Given the description of an element on the screen output the (x, y) to click on. 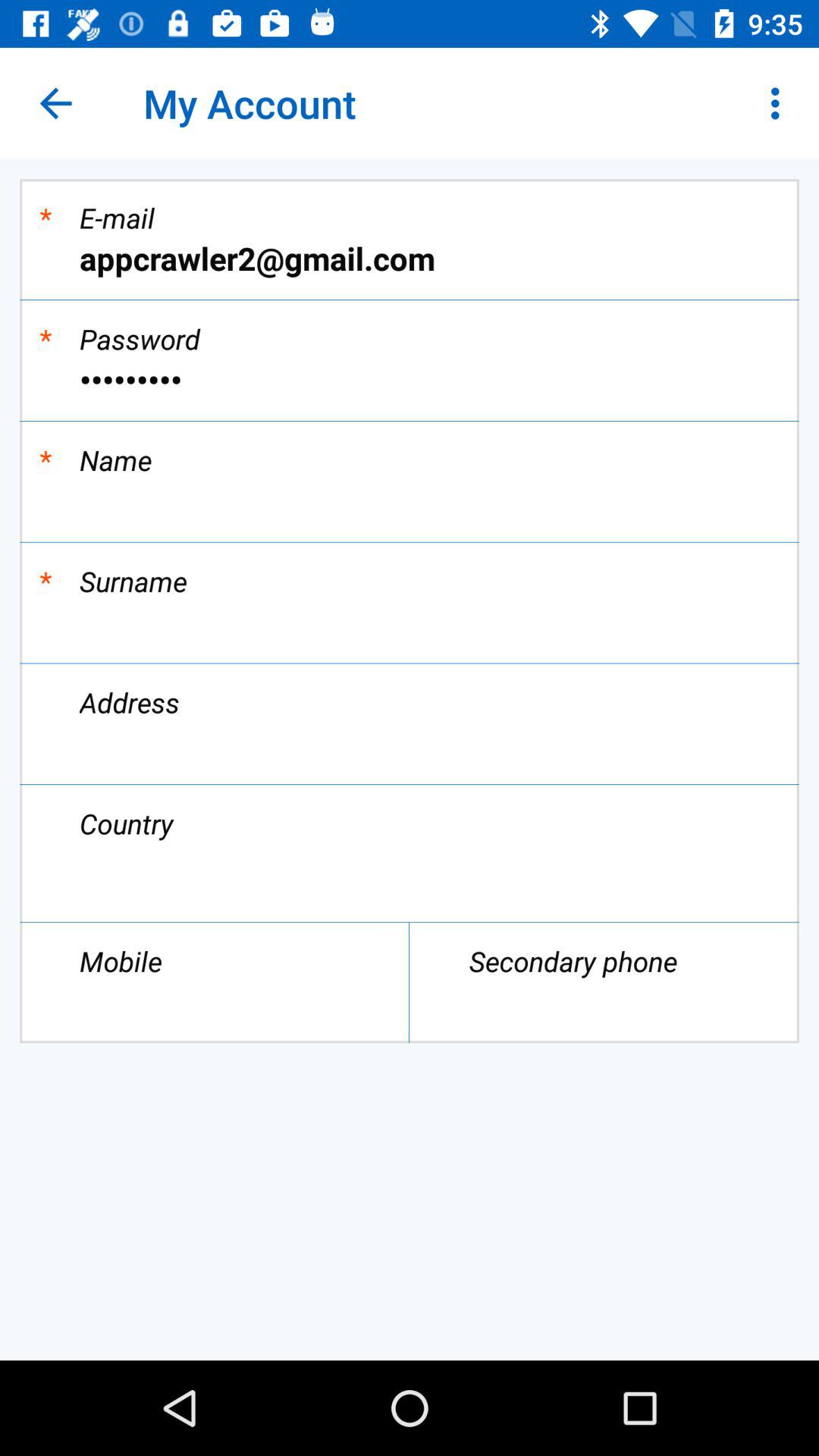
jump to crowd3116 (409, 378)
